Given the description of an element on the screen output the (x, y) to click on. 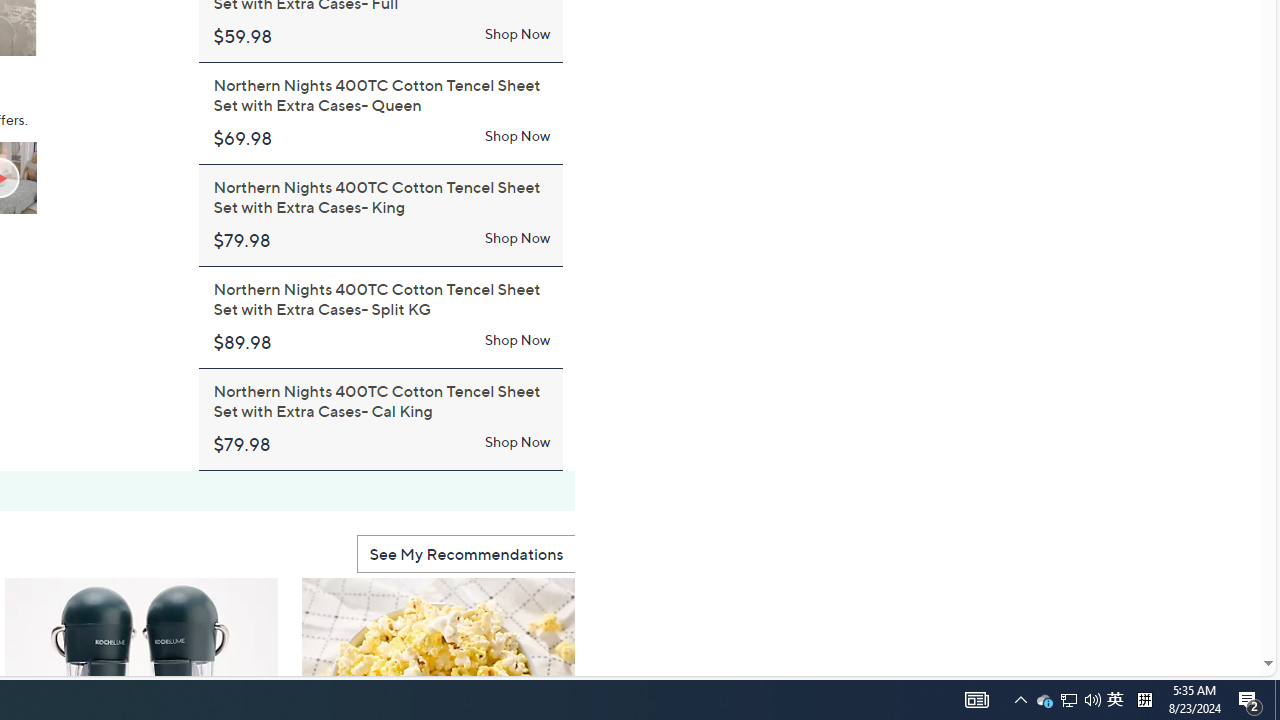
See My Recommendations (466, 553)
Unmute (85, 35)
Captions (25, 35)
Full Screen (141, 35)
